Given the description of an element on the screen output the (x, y) to click on. 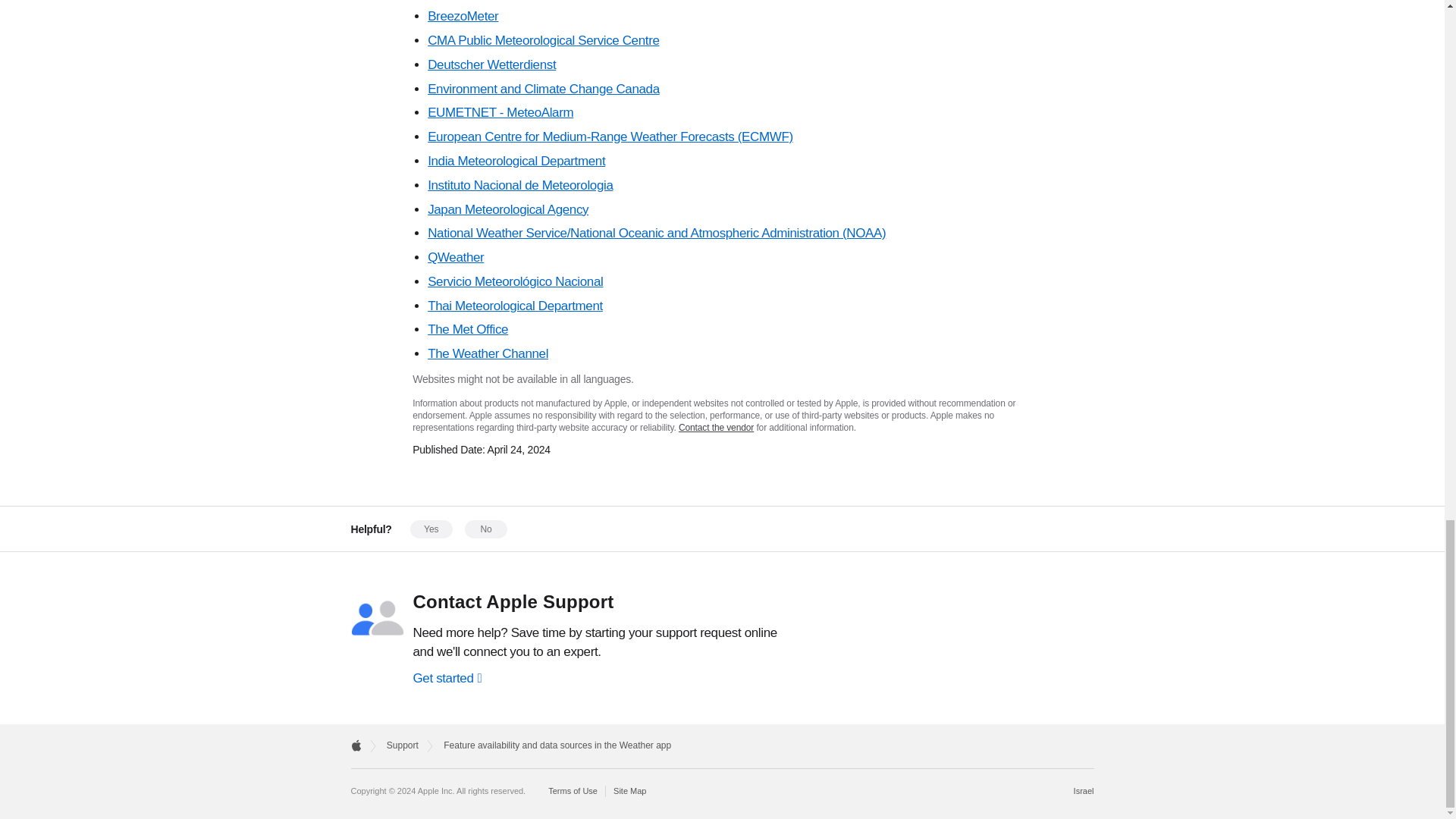
Choose your country or region (1084, 790)
Not helpful (485, 529)
Solved my problem (431, 529)
